Given the description of an element on the screen output the (x, y) to click on. 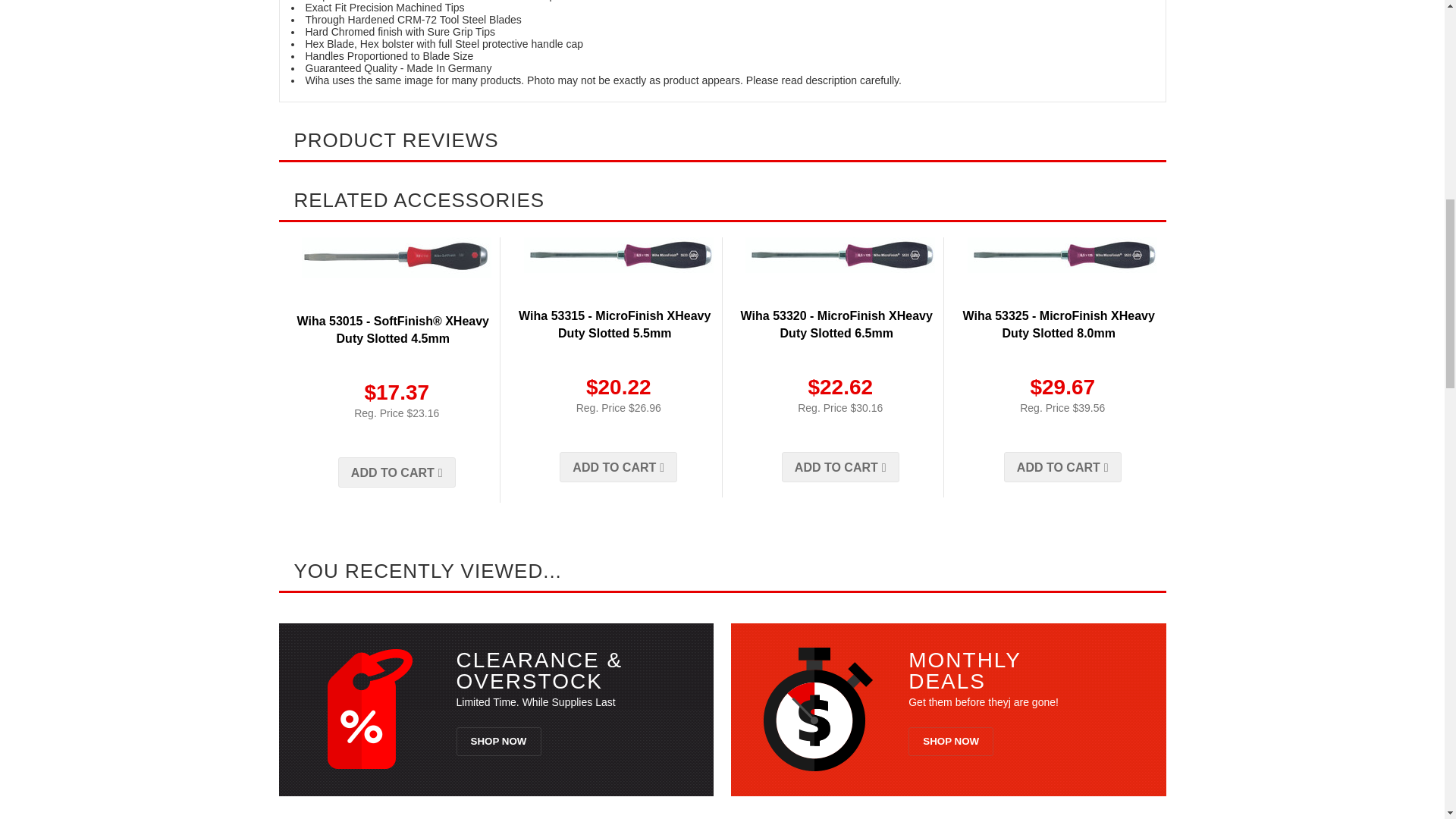
Add To Cart (396, 472)
Add To Cart (1062, 467)
Add To Cart (840, 467)
Add To Cart (618, 467)
